Given the description of an element on the screen output the (x, y) to click on. 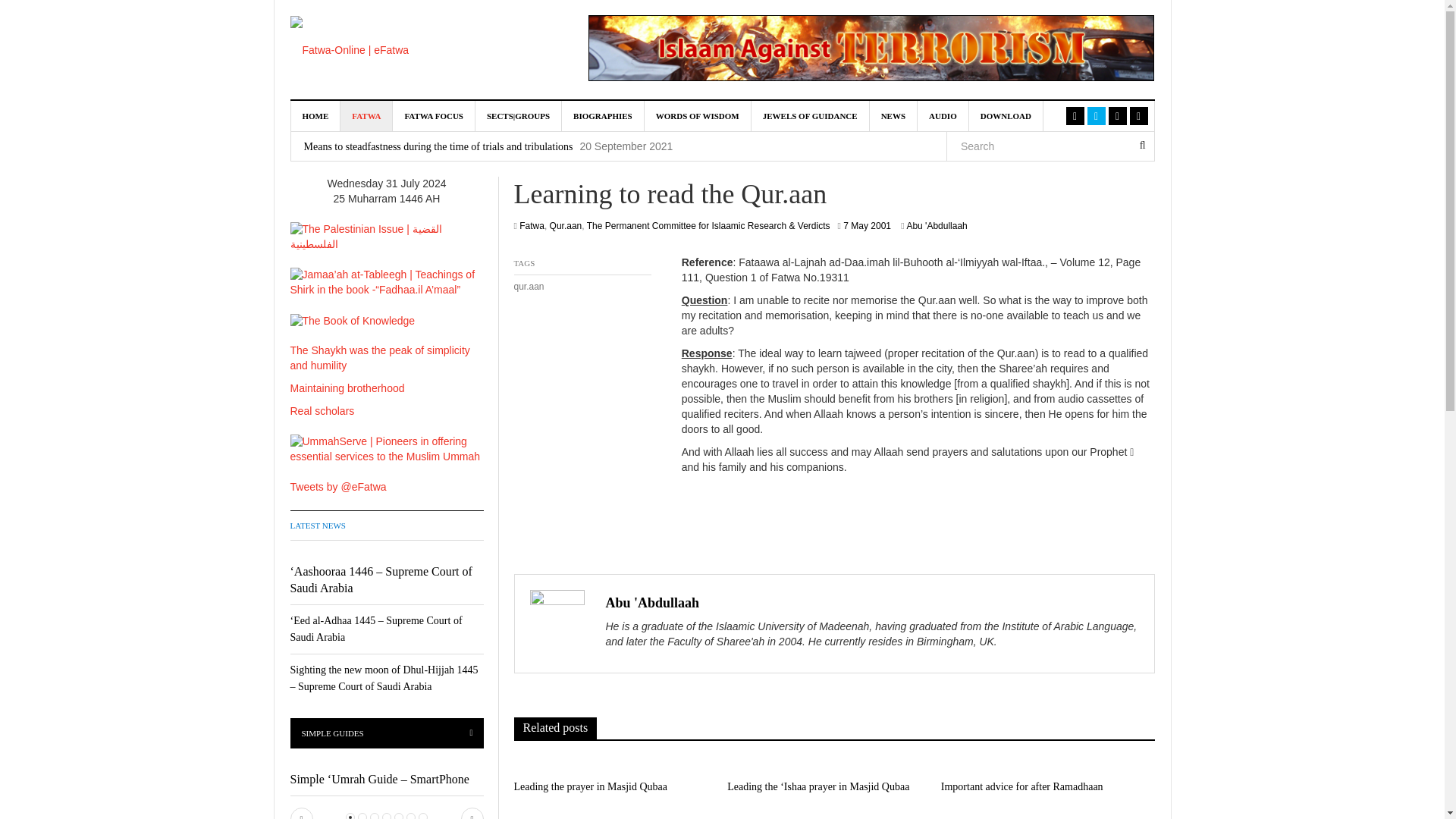
Permalink to Important advice for after Ramadhaan (1021, 786)
Posts by Abu 'Abdullaah (651, 602)
HOME (315, 115)
FATWA (366, 115)
Permalink to Leading the prayer in Masjid Qubaa (590, 786)
Islaam Against Terrorism (871, 48)
